Given the description of an element on the screen output the (x, y) to click on. 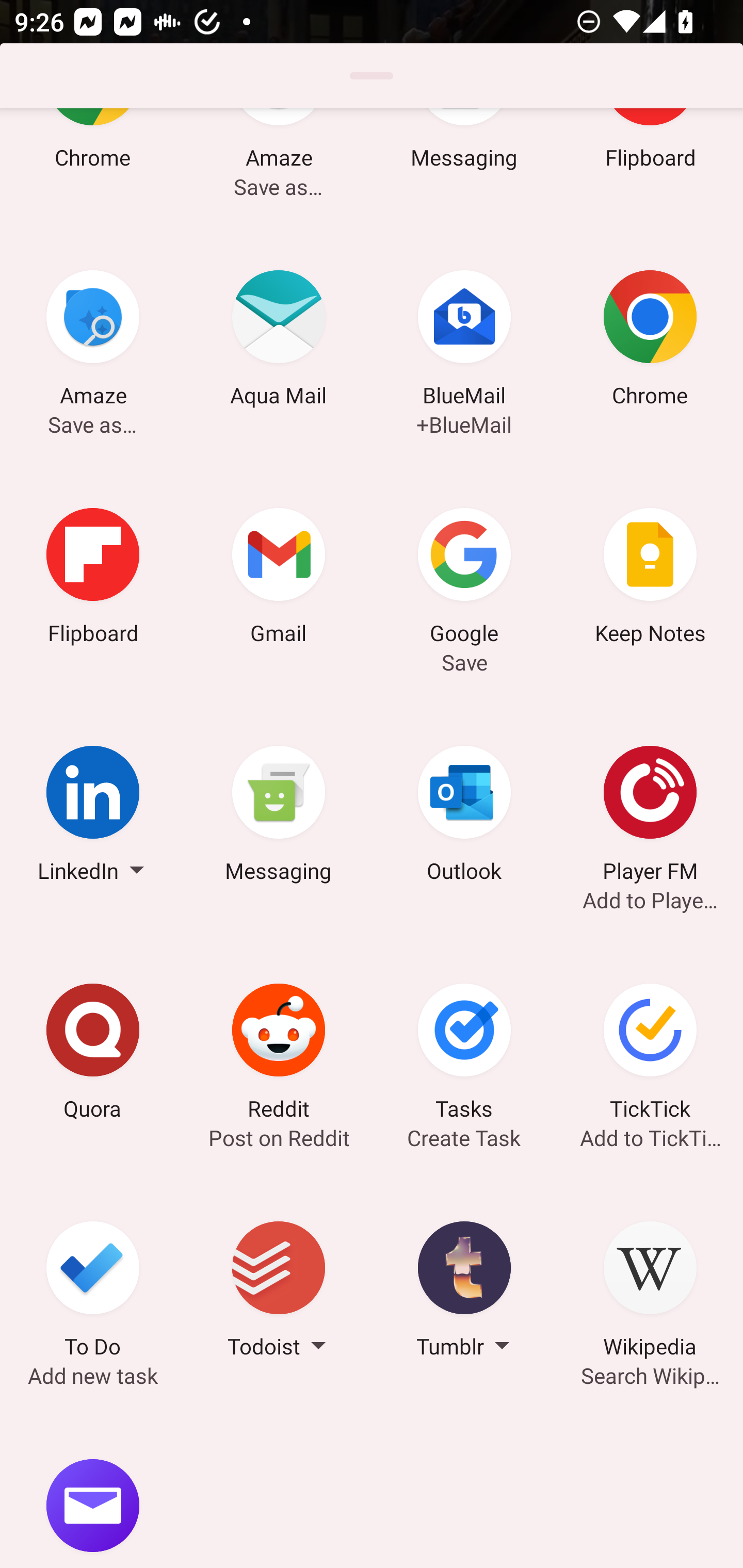
Amaze Save as… (92, 341)
Aqua Mail (278, 341)
BlueMail +BlueMail (464, 341)
Chrome (650, 341)
Flipboard (92, 578)
Gmail (278, 578)
Google Save (464, 578)
Keep Notes (650, 578)
LinkedIn (92, 816)
Messaging (278, 816)
Outlook (464, 816)
Player FM Add to Player FM (650, 816)
Quora (92, 1055)
Reddit Post on Reddit (278, 1055)
Tasks Create Task (464, 1055)
TickTick Add to TickTick (650, 1055)
To Do Add new task (92, 1292)
Todoist (278, 1292)
Tumblr (464, 1292)
Wikipedia Search Wikipedia (650, 1292)
